Given the description of an element on the screen output the (x, y) to click on. 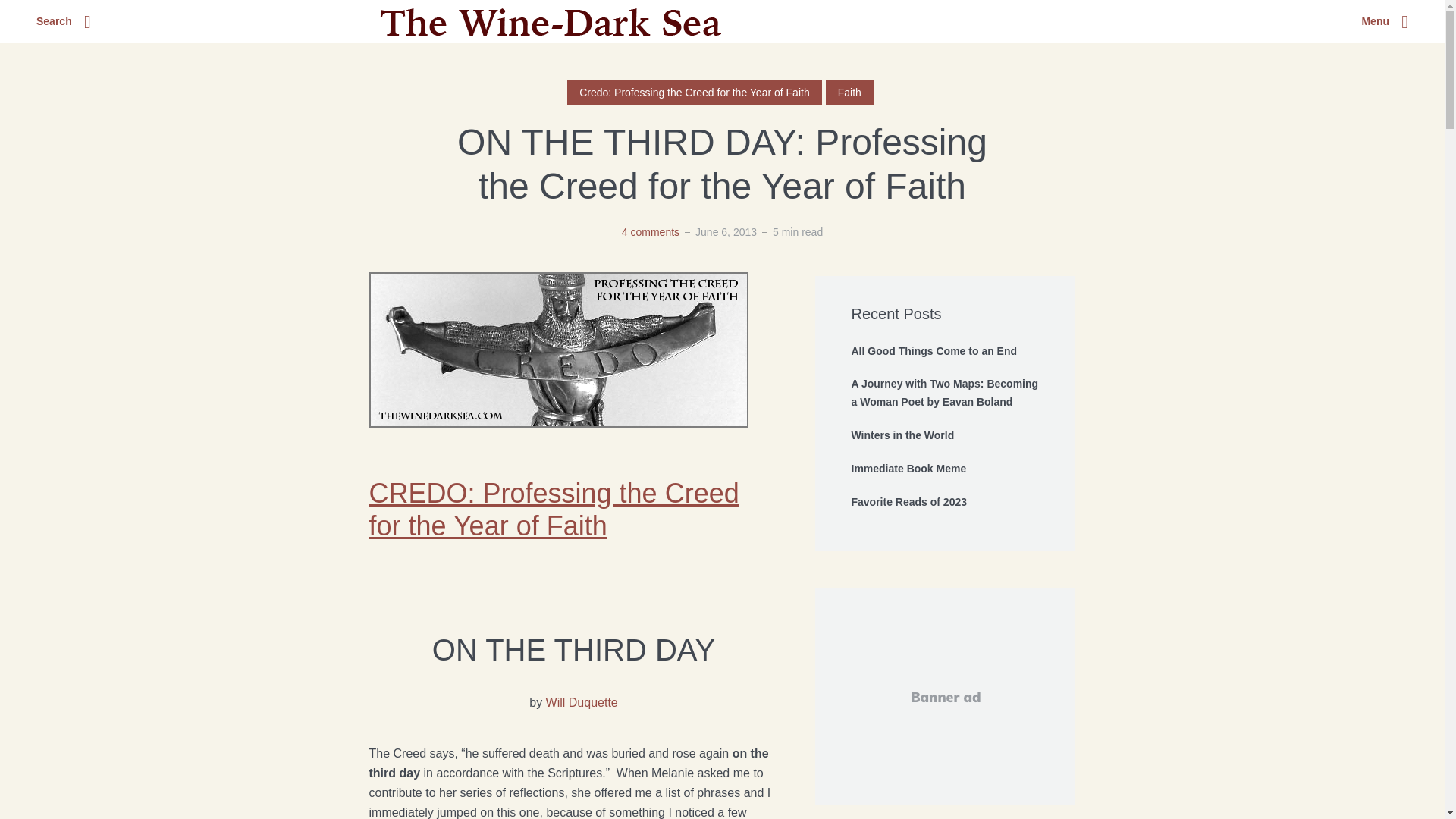
Search (63, 21)
Menu (1384, 21)
Will Duquette (581, 702)
4 comments (650, 232)
Faith (849, 92)
All Good Things Come to an End (944, 352)
4 comments (650, 232)
Credo: Professing the Creed for the Year of Faith (694, 92)
CREDO: Professing the Creed for the Year of Faith (553, 509)
CREDO: Professing the Creed for the Year of Faith (553, 509)
